Given the description of an element on the screen output the (x, y) to click on. 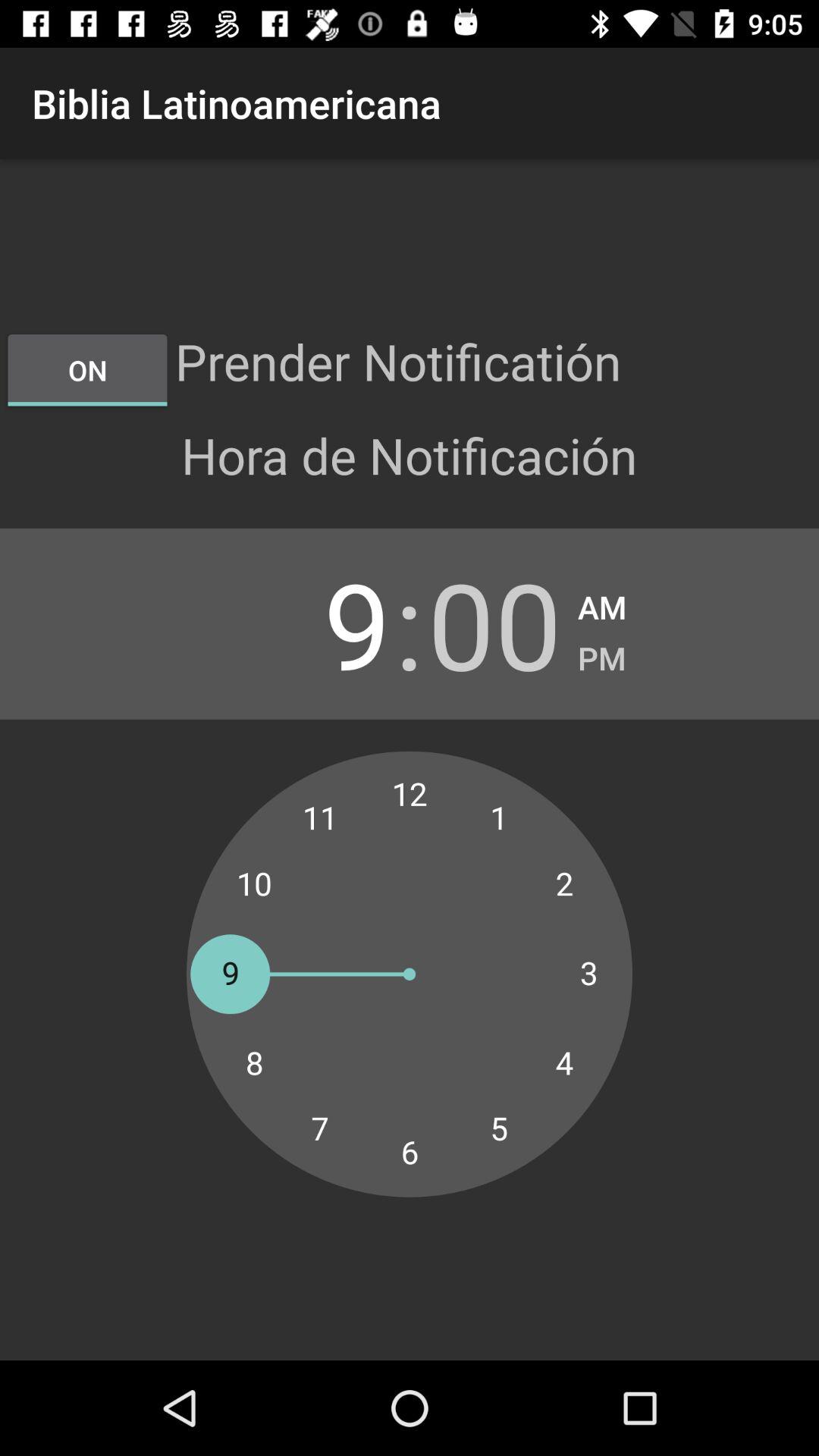
scroll until pm icon (601, 653)
